Given the description of an element on the screen output the (x, y) to click on. 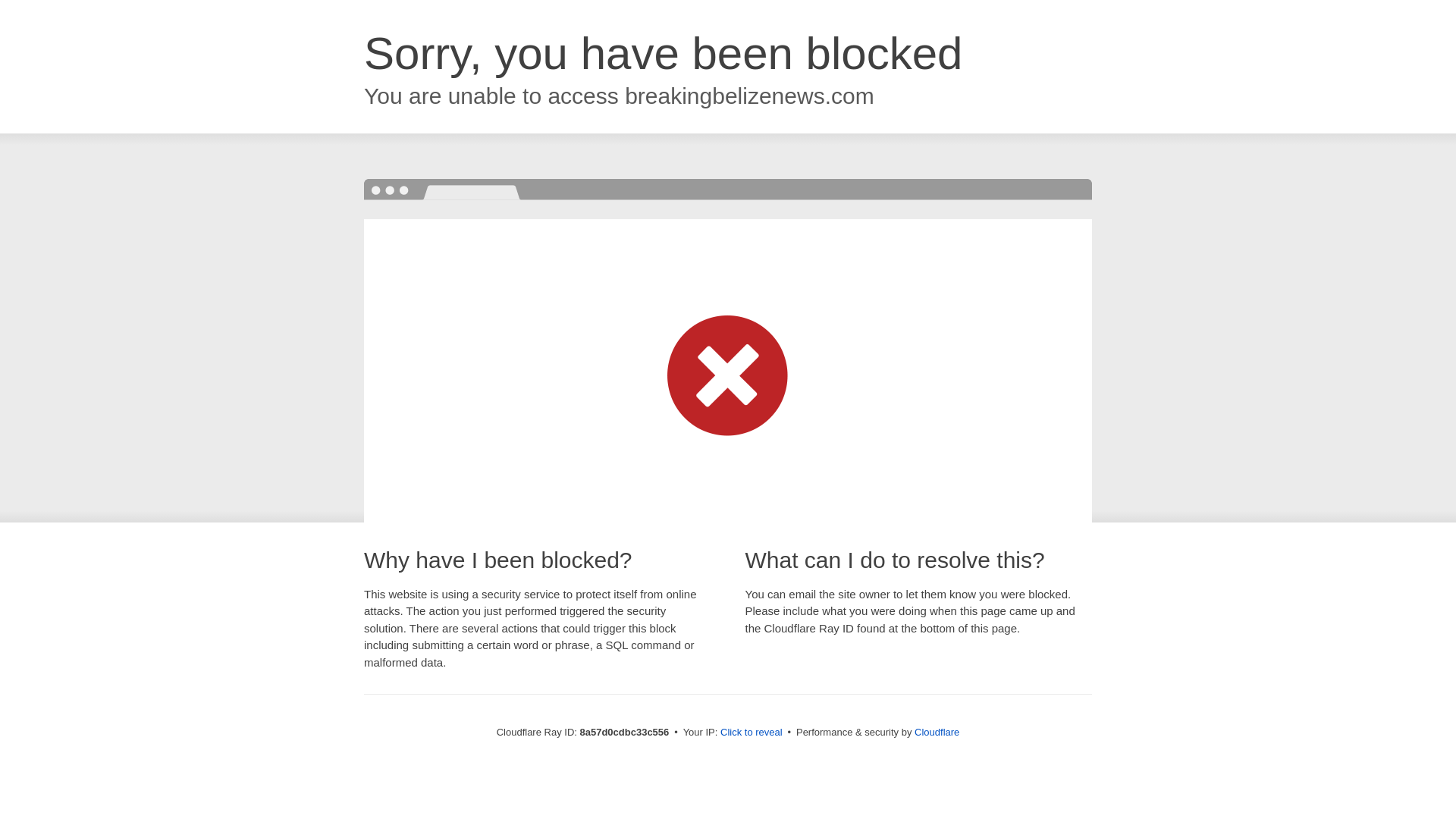
Cloudflare (936, 731)
Click to reveal (751, 732)
